Given the description of an element on the screen output the (x, y) to click on. 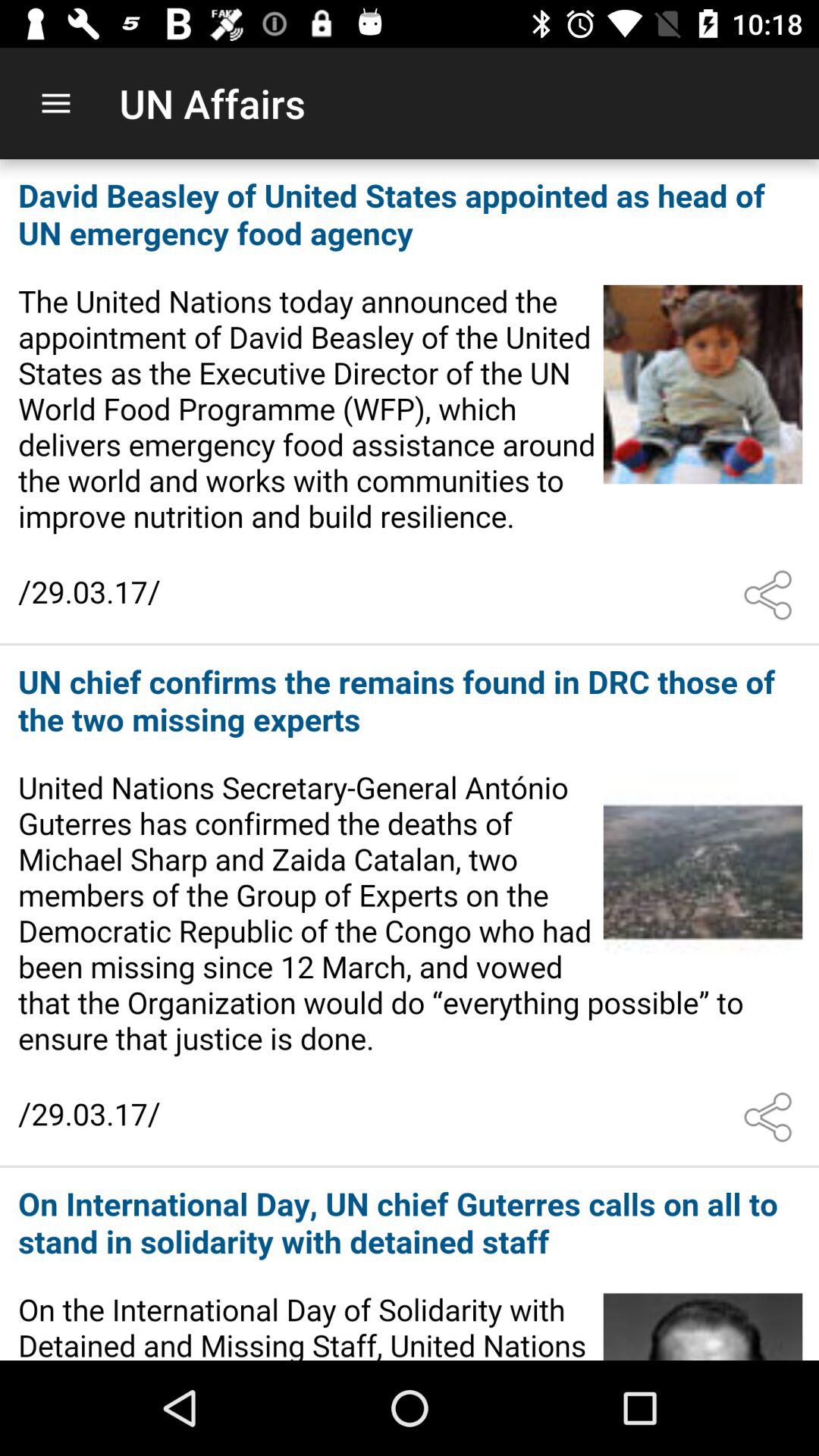
go to full article (409, 906)
